Given the description of an element on the screen output the (x, y) to click on. 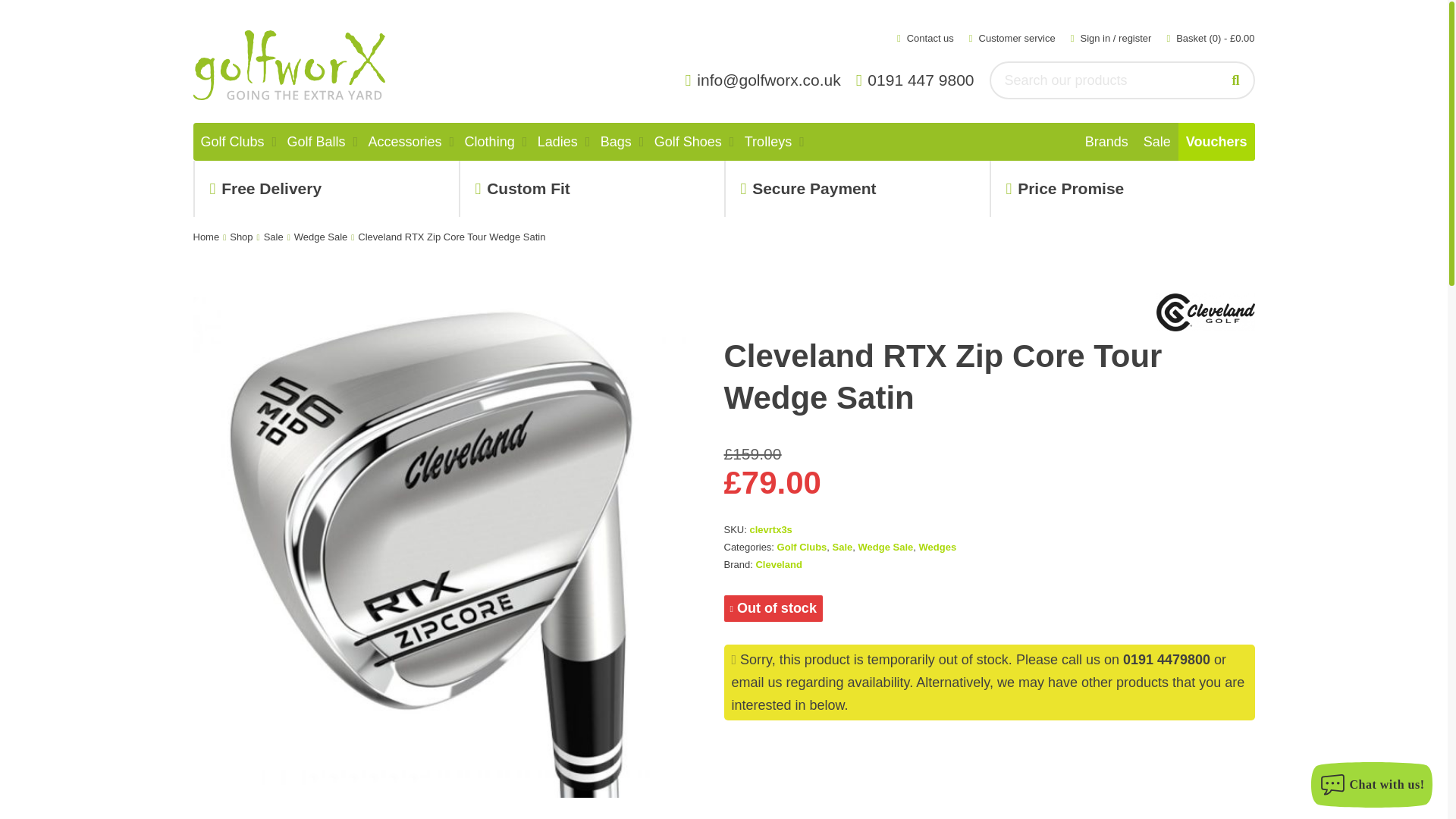
Customer service (1011, 37)
Accessories (405, 141)
contact us regarding availability (755, 682)
Contact us (924, 37)
0191 447 9800 (919, 80)
Golf Balls (316, 141)
Golf Clubs (231, 141)
